Given the description of an element on the screen output the (x, y) to click on. 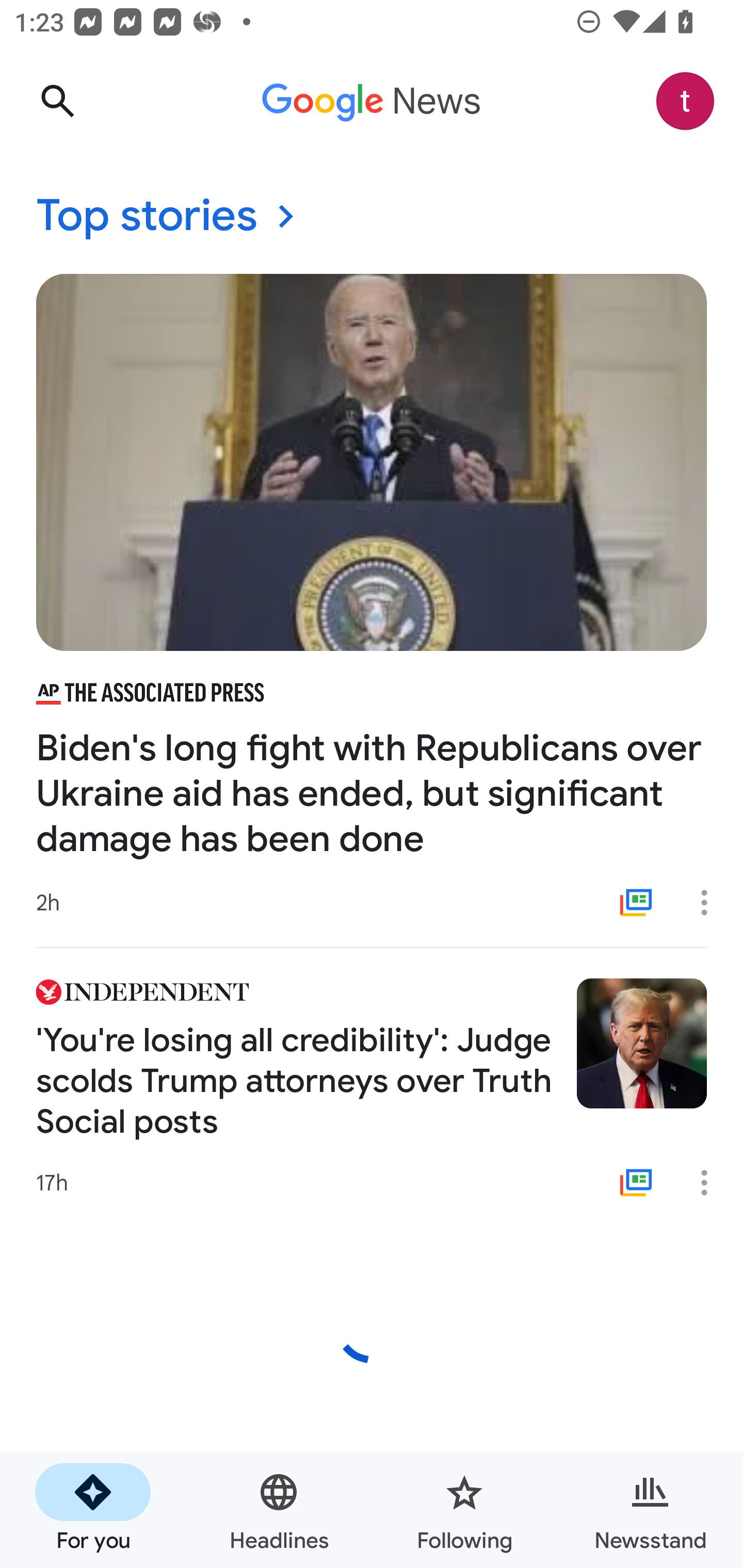
Search (57, 100)
Top stories (371, 216)
More options (711, 902)
More options (711, 1182)
For you (92, 1509)
Headlines (278, 1509)
Following (464, 1509)
Newsstand (650, 1509)
